Given the description of an element on the screen output the (x, y) to click on. 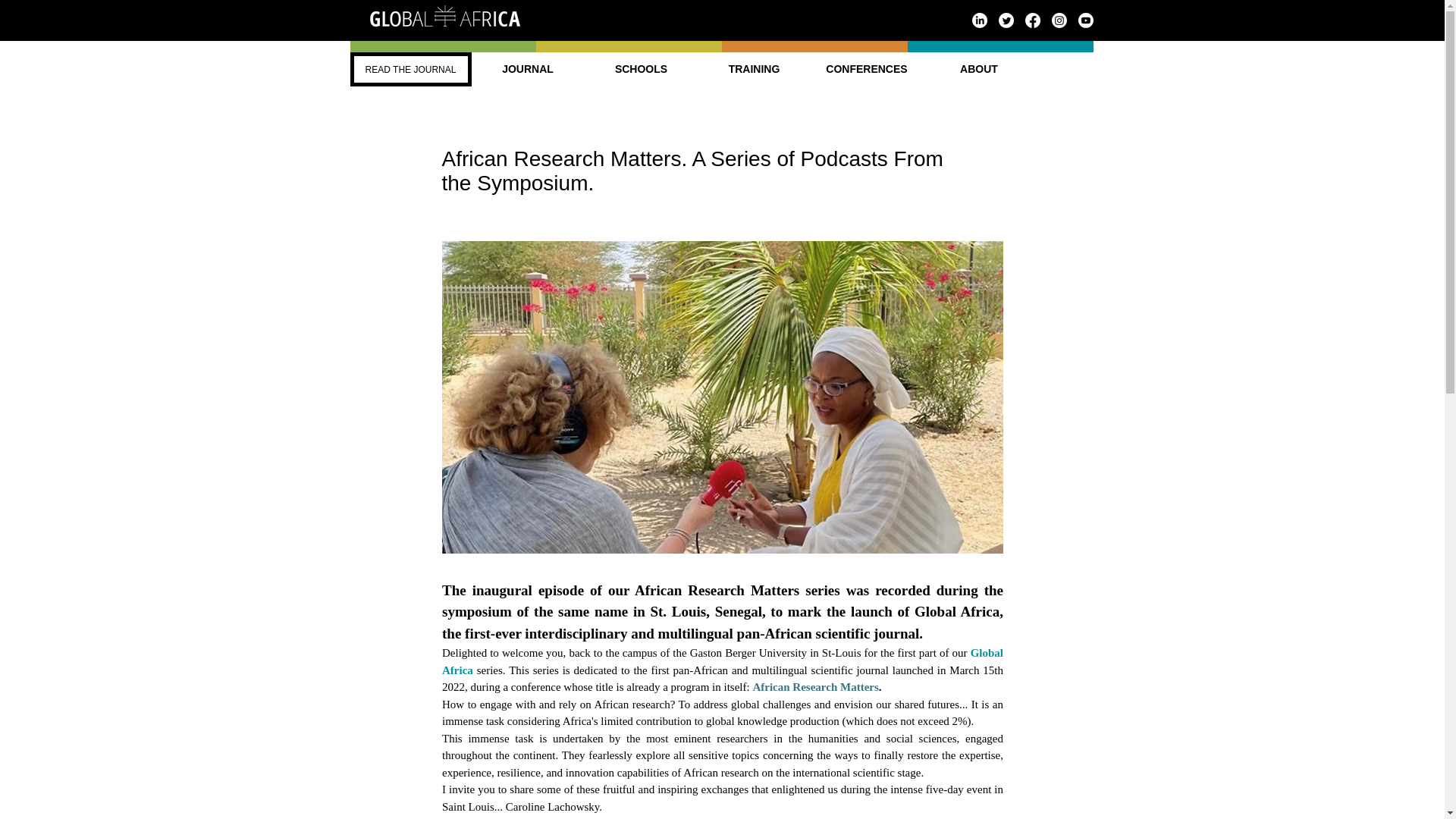
CONFERENCES (865, 69)
TRAINING (753, 69)
ABOUT (977, 69)
African Research Matters (814, 686)
SCHOOLS (640, 69)
JOURNAL (528, 69)
READ THE JOURNAL (410, 69)
Global Africa Journal (444, 15)
Mame Penda Ba (508, 818)
